Given the description of an element on the screen output the (x, y) to click on. 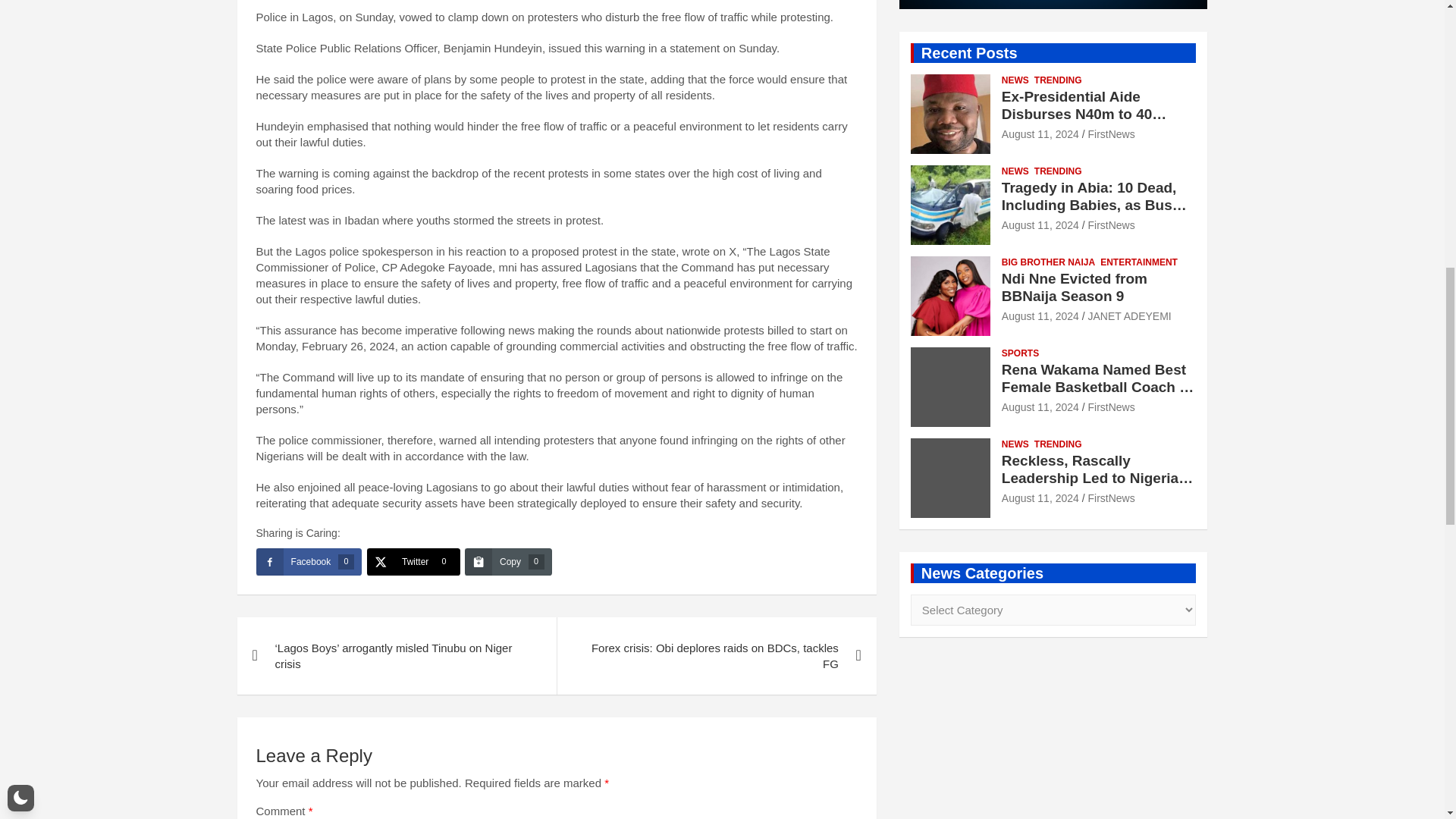
Forex crisis: Obi deplores raids on BDCs, tackles FG (716, 655)
Ex-Presidential Aide Disburses N40m to 40 Youths (1039, 133)
Ndi Nne Evicted from BBNaija Season 9 (1039, 316)
